Given the description of an element on the screen output the (x, y) to click on. 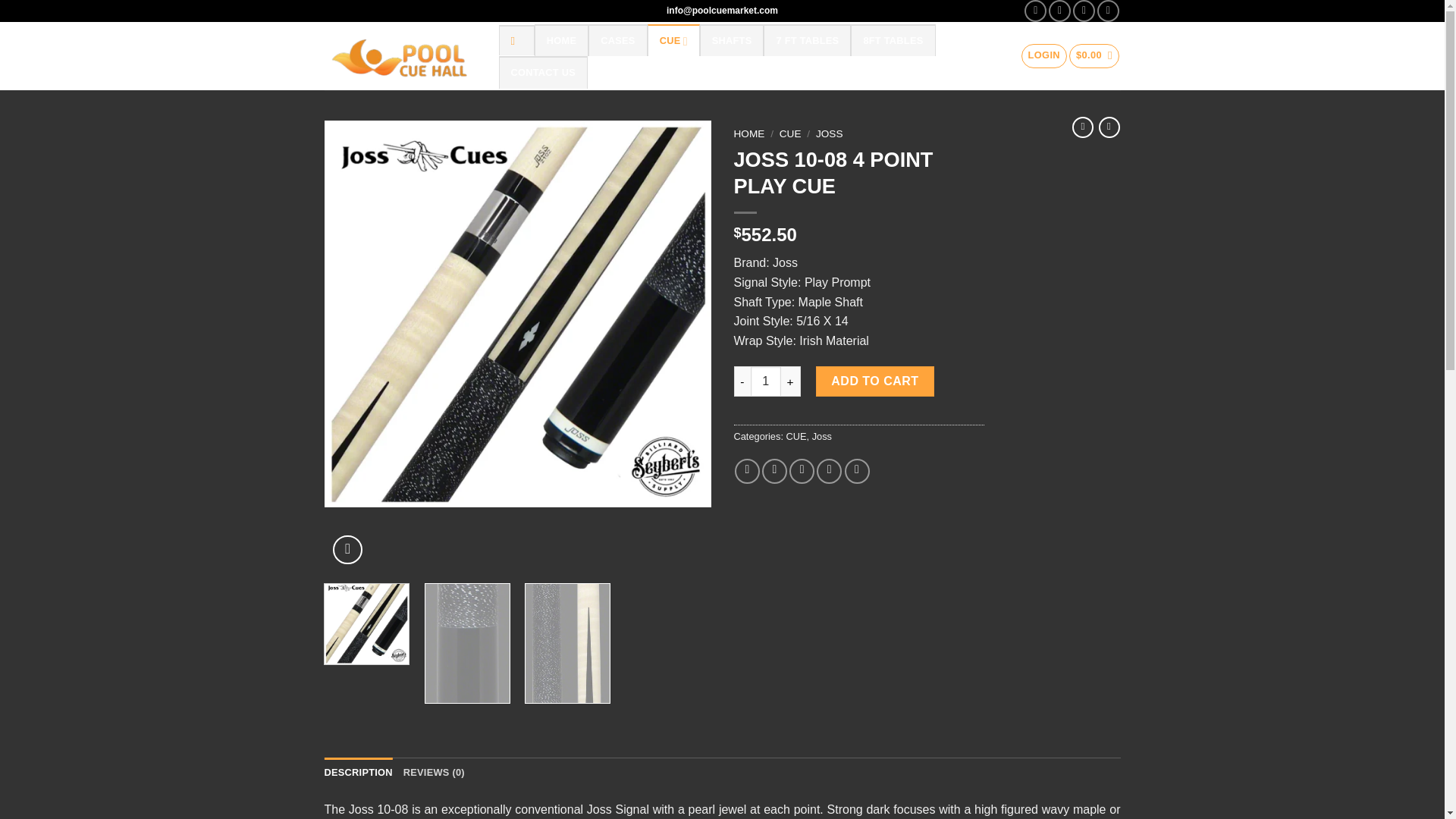
7 FT TABLES (806, 40)
- (742, 381)
Share on Twitter (774, 471)
8FT TABLES (892, 40)
1 (765, 381)
Follow on Twitter (1083, 11)
poolcuemarket - My WordPress Blog (400, 56)
CASES (617, 40)
Send us an email (1108, 11)
Share on Facebook (747, 471)
Follow on Instagram (1059, 11)
Cart (1093, 55)
Follow on Facebook (1035, 11)
SHAFTS (732, 40)
